Given the description of an element on the screen output the (x, y) to click on. 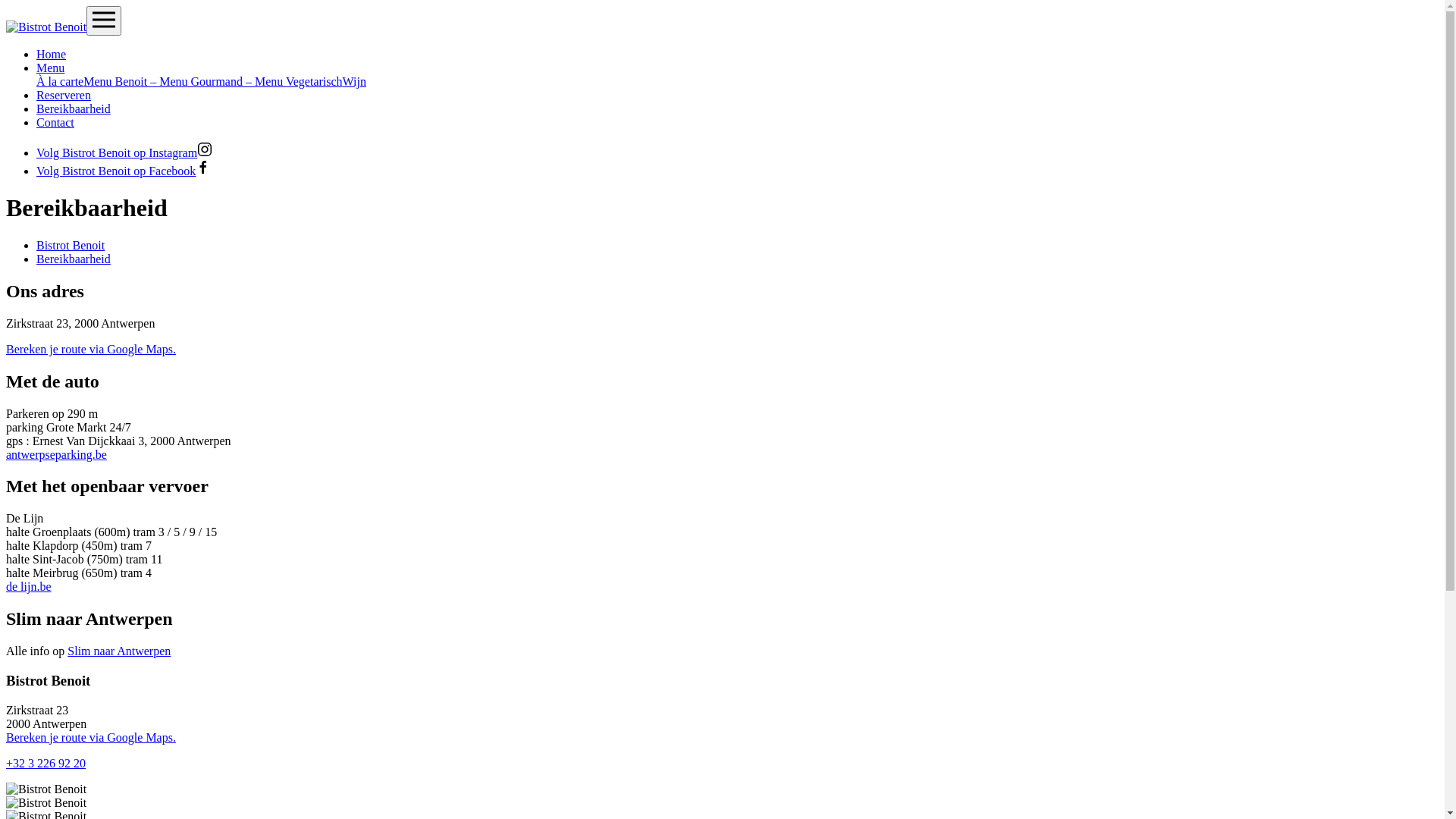
de lijn.be Element type: text (28, 586)
Bistrot Benoit Element type: text (70, 244)
antwerpseparking.be Element type: text (56, 453)
Bereken je route via Google Maps. Element type: text (90, 348)
Bereikbaarheid Element type: text (73, 108)
Reserveren Element type: text (63, 94)
Volg Bistrot Benoit op Facebook Element type: text (123, 170)
Volg Bistrot Benoit op Instagram Element type: text (124, 152)
Bistrot Benoit Element type: hover (46, 26)
Bereken je route via Google Maps. Element type: text (90, 737)
Bereikbaarheid Element type: text (73, 258)
Wijn Element type: text (354, 81)
Menu Element type: text (50, 67)
Home Element type: text (50, 53)
Contact Element type: text (55, 122)
+32 3 226 92 20 Element type: text (45, 762)
Slim naar Antwerpen Element type: text (118, 650)
